Given the description of an element on the screen output the (x, y) to click on. 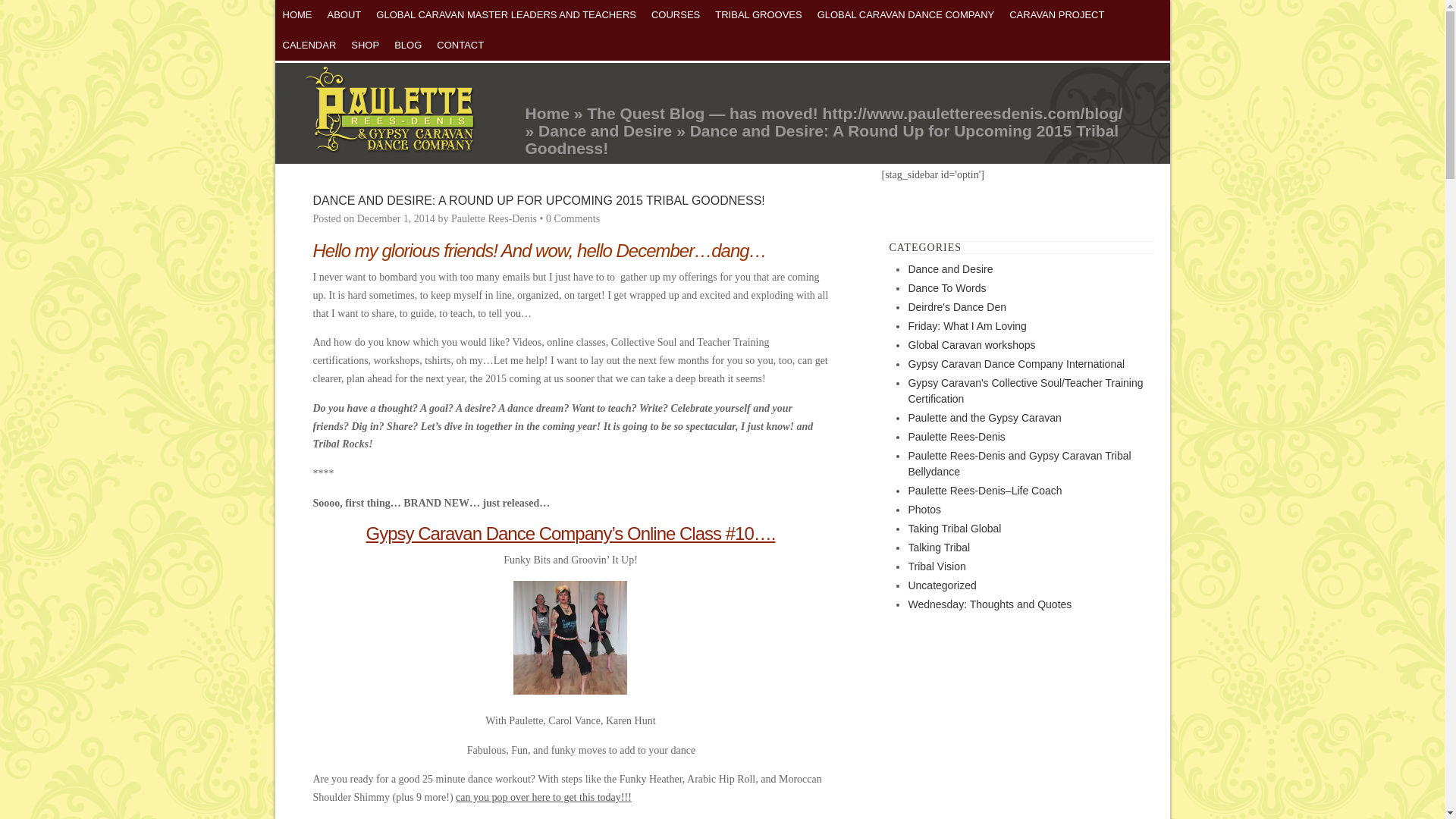
ABOUT (344, 15)
View all posts by Paulette Rees-Denis (494, 218)
COURSES (675, 15)
HOME (296, 15)
GLOBAL CARAVAN MASTER LEADERS AND TEACHERS (505, 15)
